Given the description of an element on the screen output the (x, y) to click on. 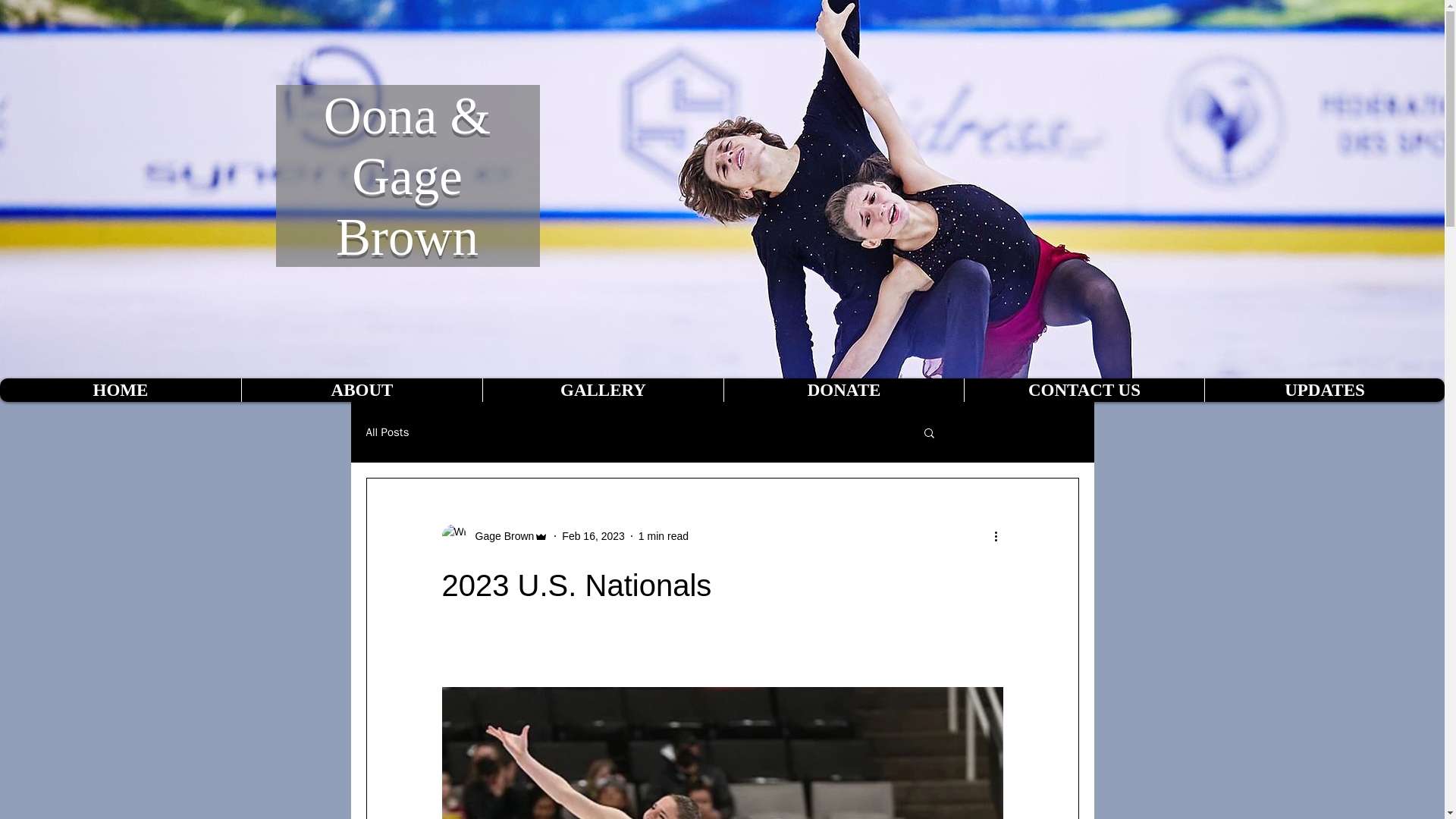
DONATE (843, 390)
GALLERY (602, 390)
1 min read (663, 535)
Feb 16, 2023 (593, 535)
All Posts (387, 431)
HOME (120, 390)
Gage Brown (499, 535)
ABOUT (361, 390)
CONTACT US (1083, 390)
Brown (407, 237)
